Given the description of an element on the screen output the (x, y) to click on. 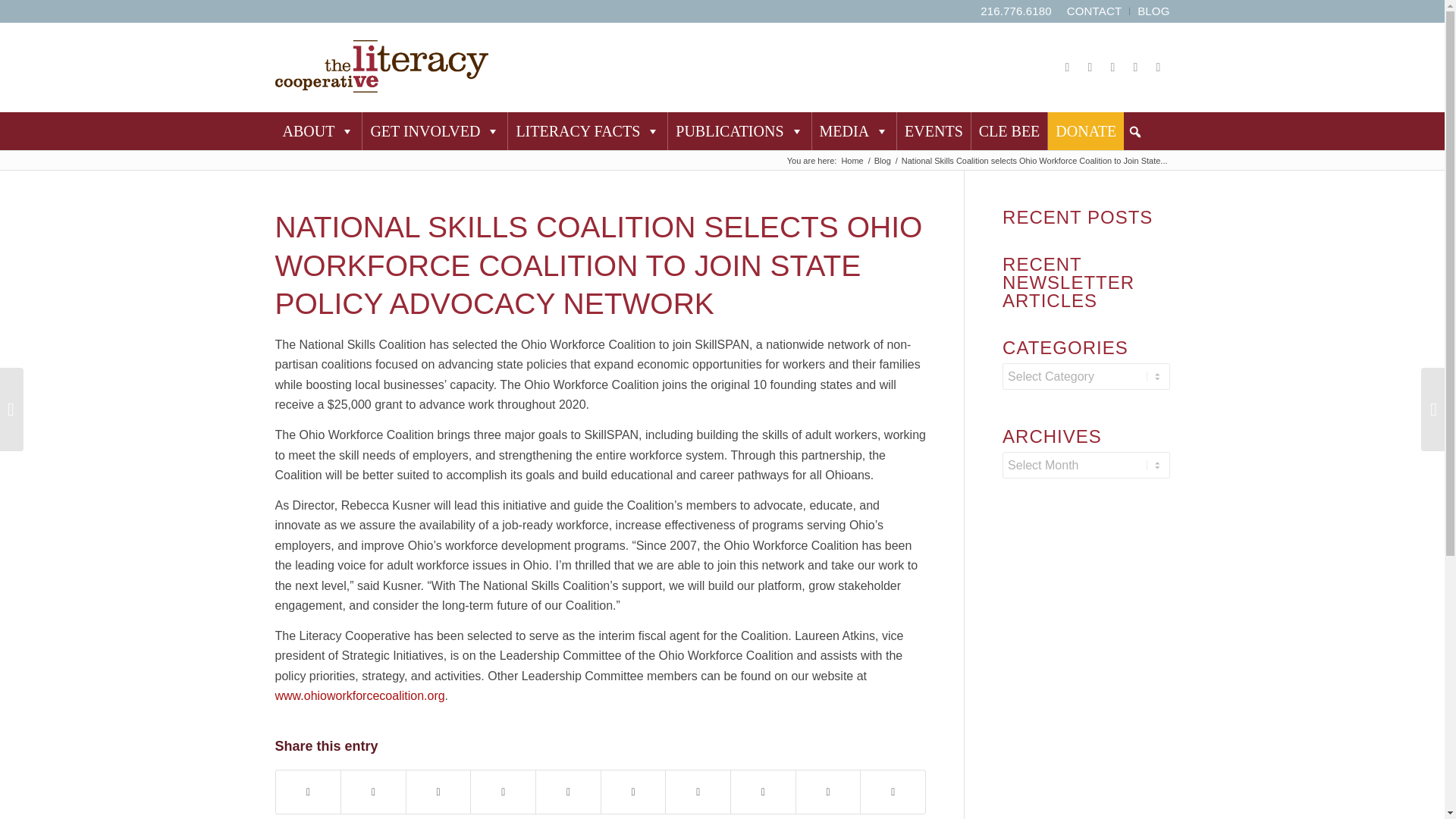
Youtube (1135, 67)
LITERACY FACTS (587, 130)
CONTACT (1094, 11)
The Literacy Cooperative (851, 160)
LinkedIn (1066, 67)
Instagram (1158, 67)
BLOG (1153, 11)
Facebook (1089, 67)
ABOUT (318, 130)
PUBLICATIONS (739, 130)
